Given the description of an element on the screen output the (x, y) to click on. 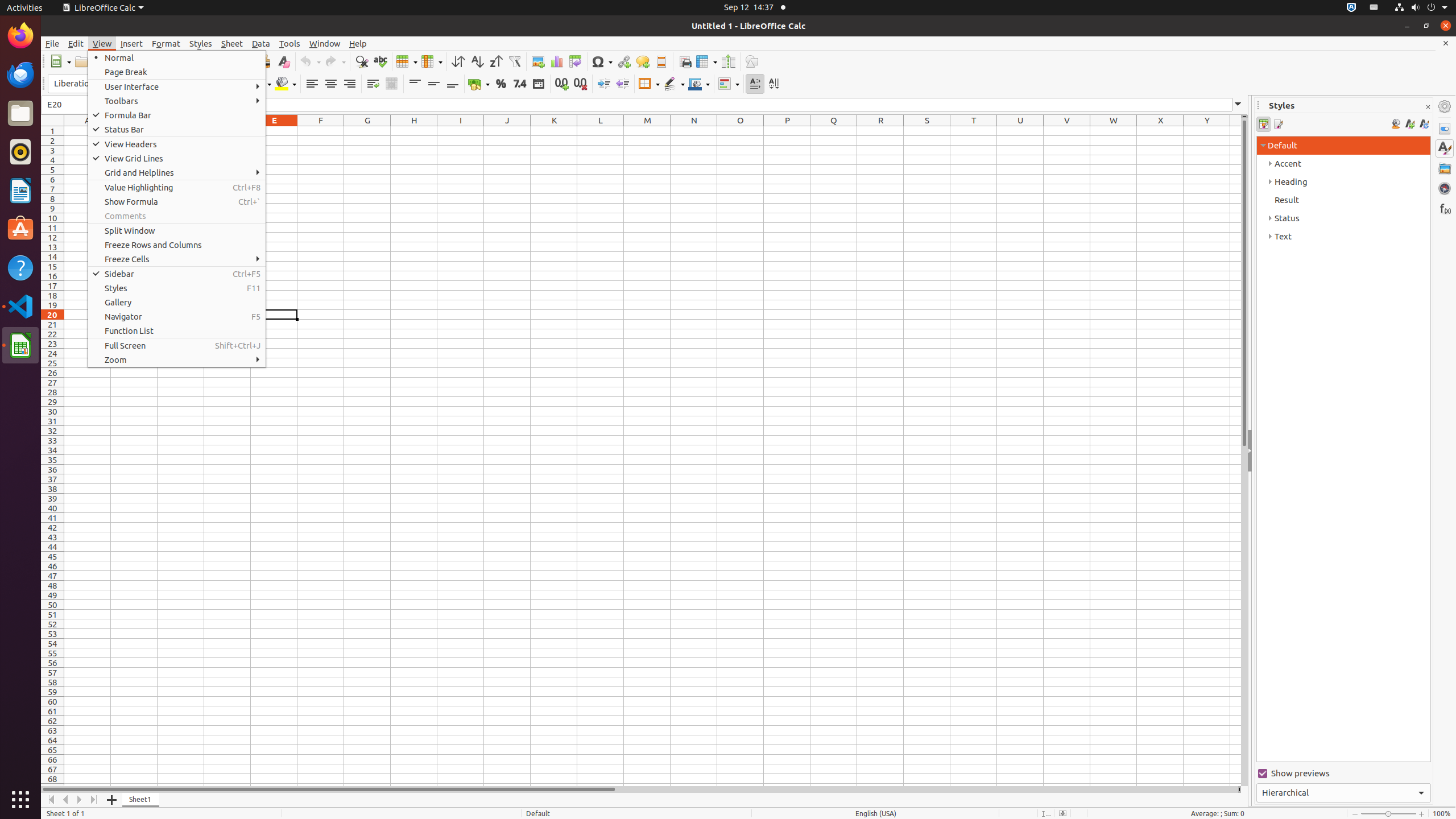
Hyperlink Element type: toggle-button (623, 61)
Sort Descending Element type: push-button (495, 61)
S1 Element type: table-cell (926, 130)
AutoFilter Element type: push-button (514, 61)
Print Area Element type: push-button (684, 61)
